Given the description of an element on the screen output the (x, y) to click on. 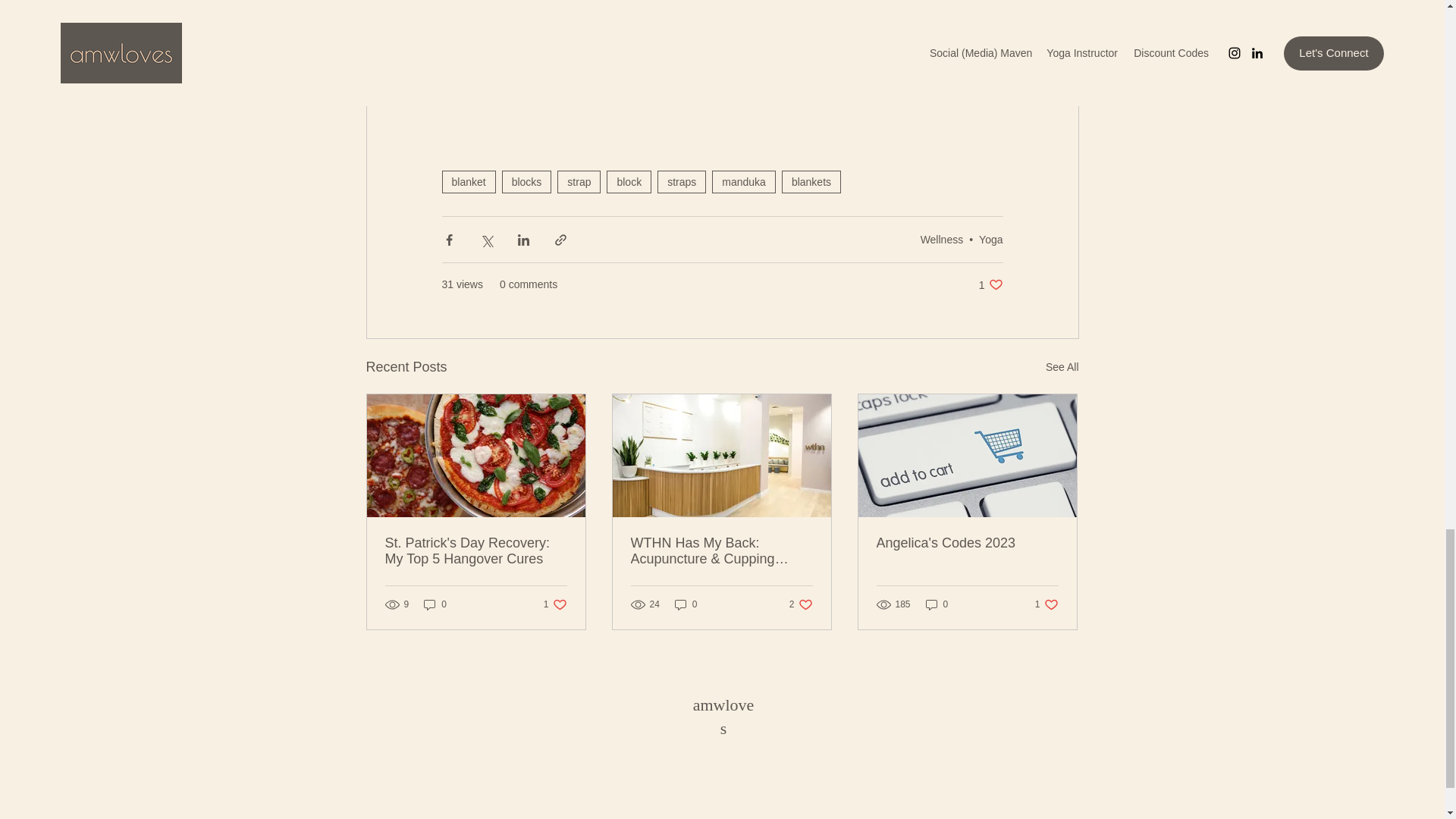
blanket (468, 181)
blocks (526, 181)
block (628, 181)
strap (578, 181)
